Given the description of an element on the screen output the (x, y) to click on. 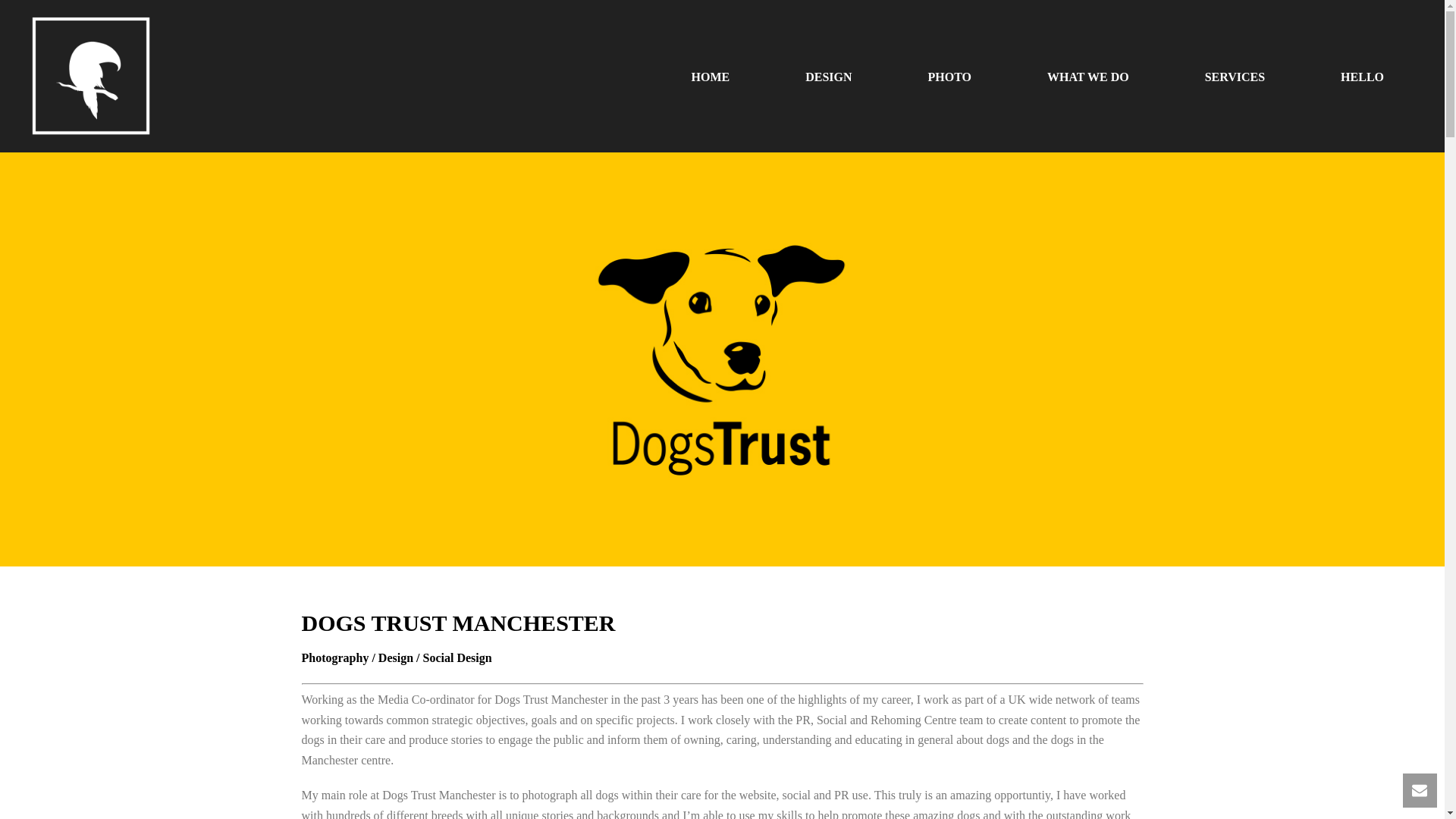
WHAT WE DO (1088, 75)
WHAT WE DO (1088, 75)
SERVICES (1235, 75)
SERVICES (1235, 75)
